Given the description of an element on the screen output the (x, y) to click on. 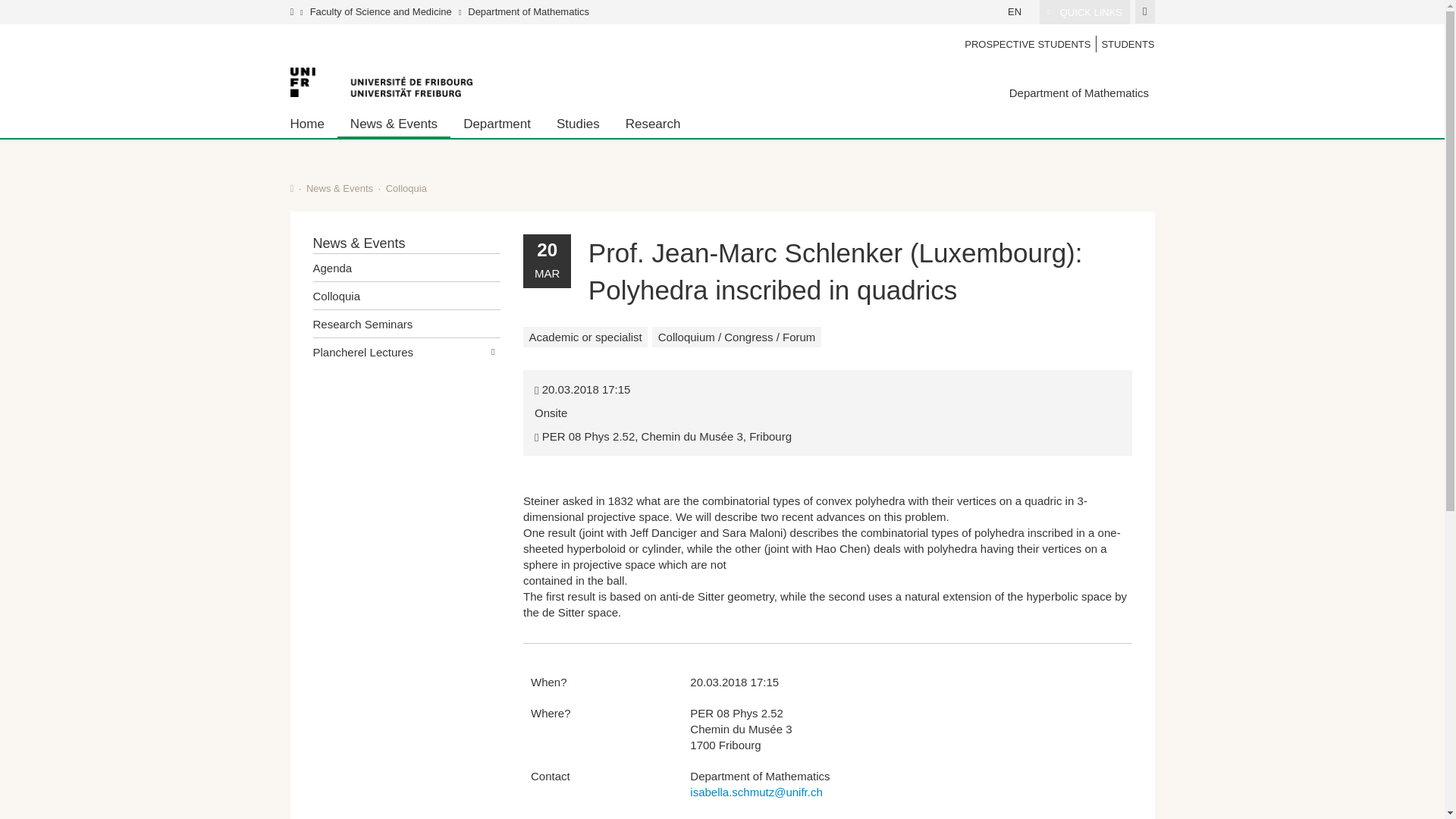
Prospective Students (1027, 43)
EN (1014, 11)
QUICK LINKS (1084, 12)
Students (1125, 43)
Department of Mathematics (528, 11)
Faculty of Science and Medicine (380, 11)
